Given the description of an element on the screen output the (x, y) to click on. 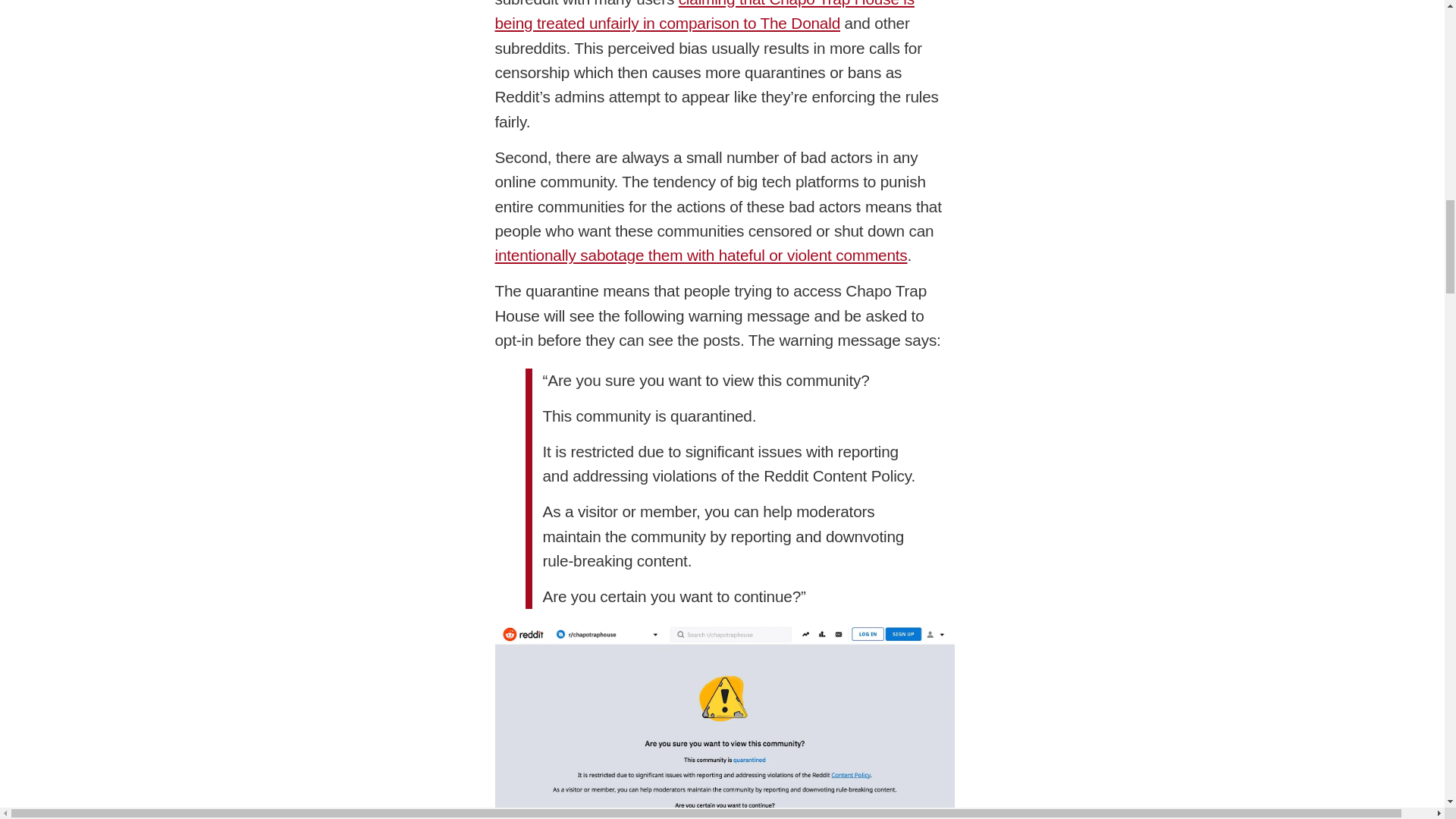
intentionally sabotage them with hateful or violent comments (701, 254)
